Given the description of an element on the screen output the (x, y) to click on. 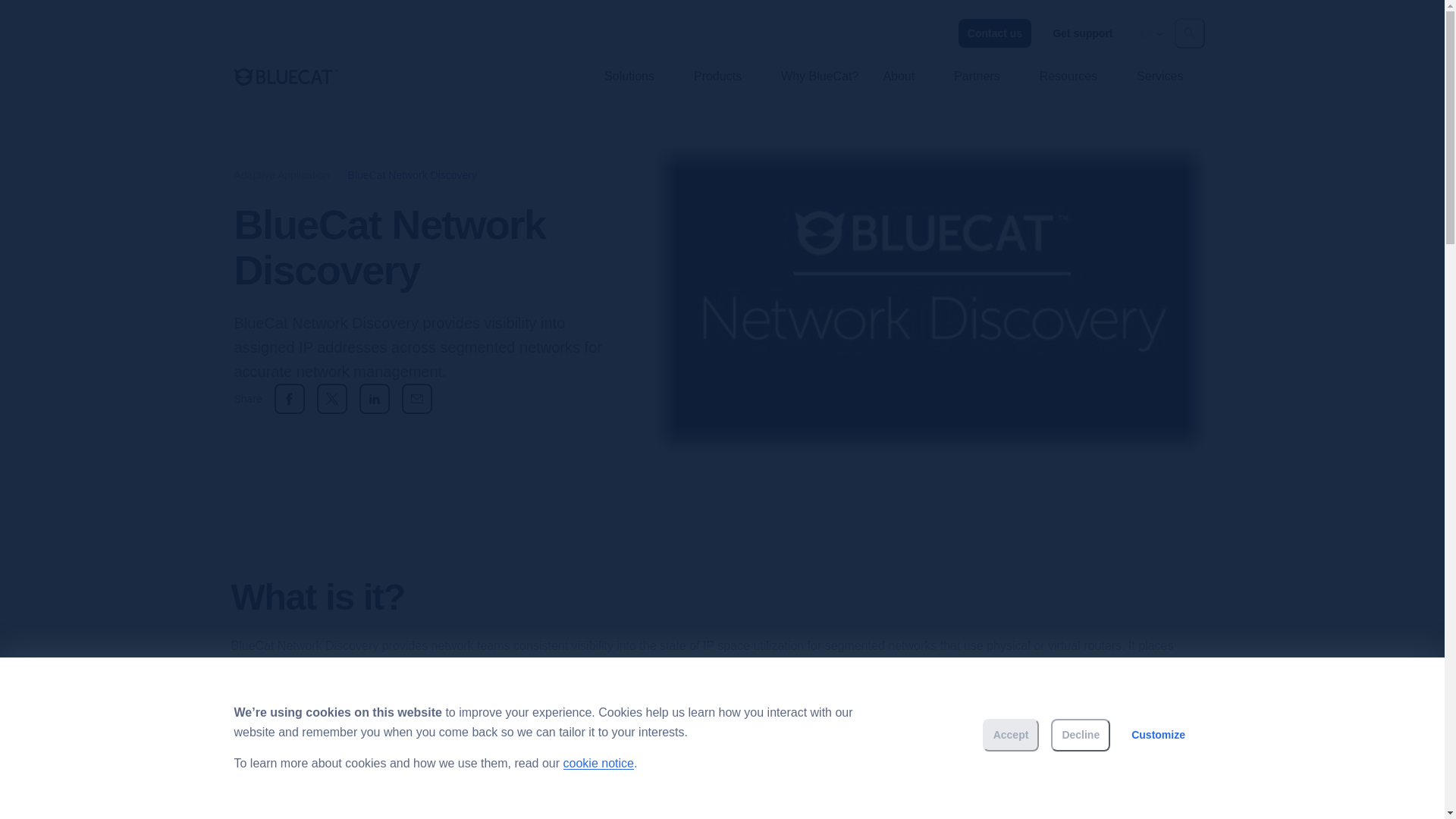
Toggle nav dropdown (668, 76)
Toggle nav dropdown (1014, 76)
Products (717, 76)
Resources (1068, 76)
Toggle nav dropdown (1196, 76)
Toggle nav dropdown (1110, 76)
Partners (976, 76)
Toggle nav dropdown (1110, 76)
Toggle nav dropdown (755, 76)
About (898, 76)
Why BlueCat? (819, 76)
Toggle nav dropdown (928, 76)
Toggle nav dropdown (755, 76)
Toggle nav dropdown (928, 76)
Solutions (629, 76)
